Given the description of an element on the screen output the (x, y) to click on. 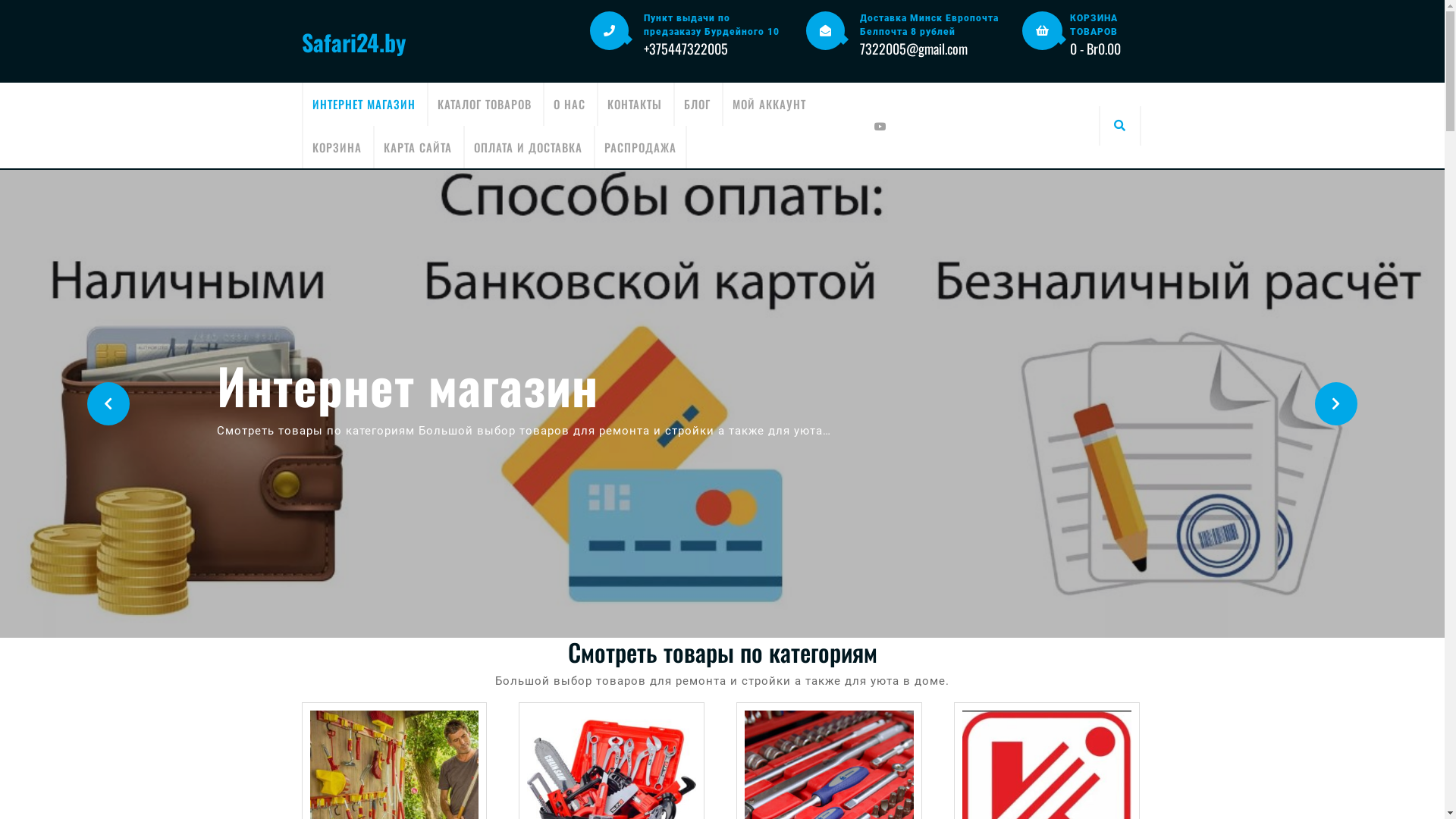
Safari24.by Element type: text (353, 41)
